Given the description of an element on the screen output the (x, y) to click on. 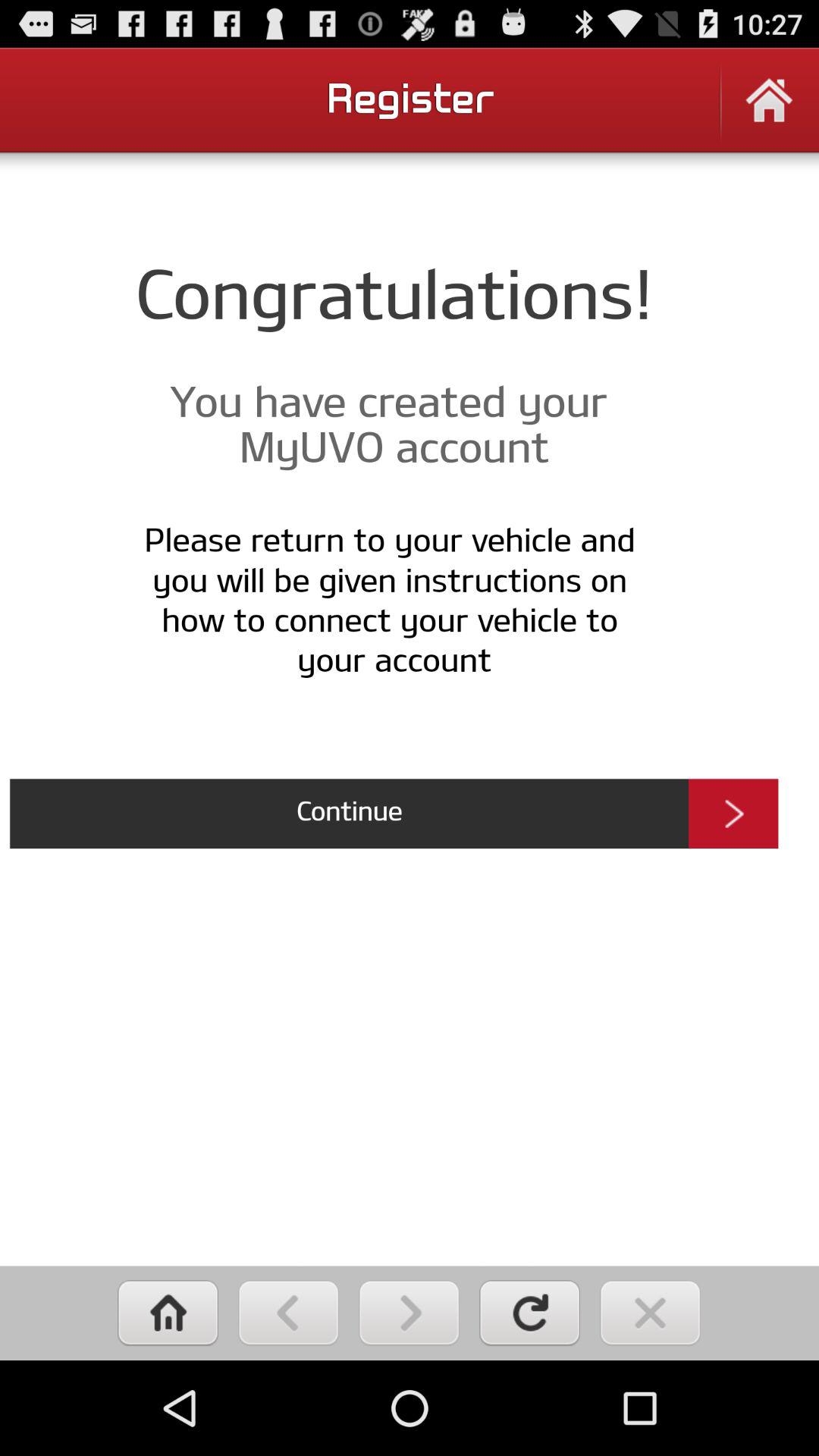
home screen (769, 110)
